Given the description of an element on the screen output the (x, y) to click on. 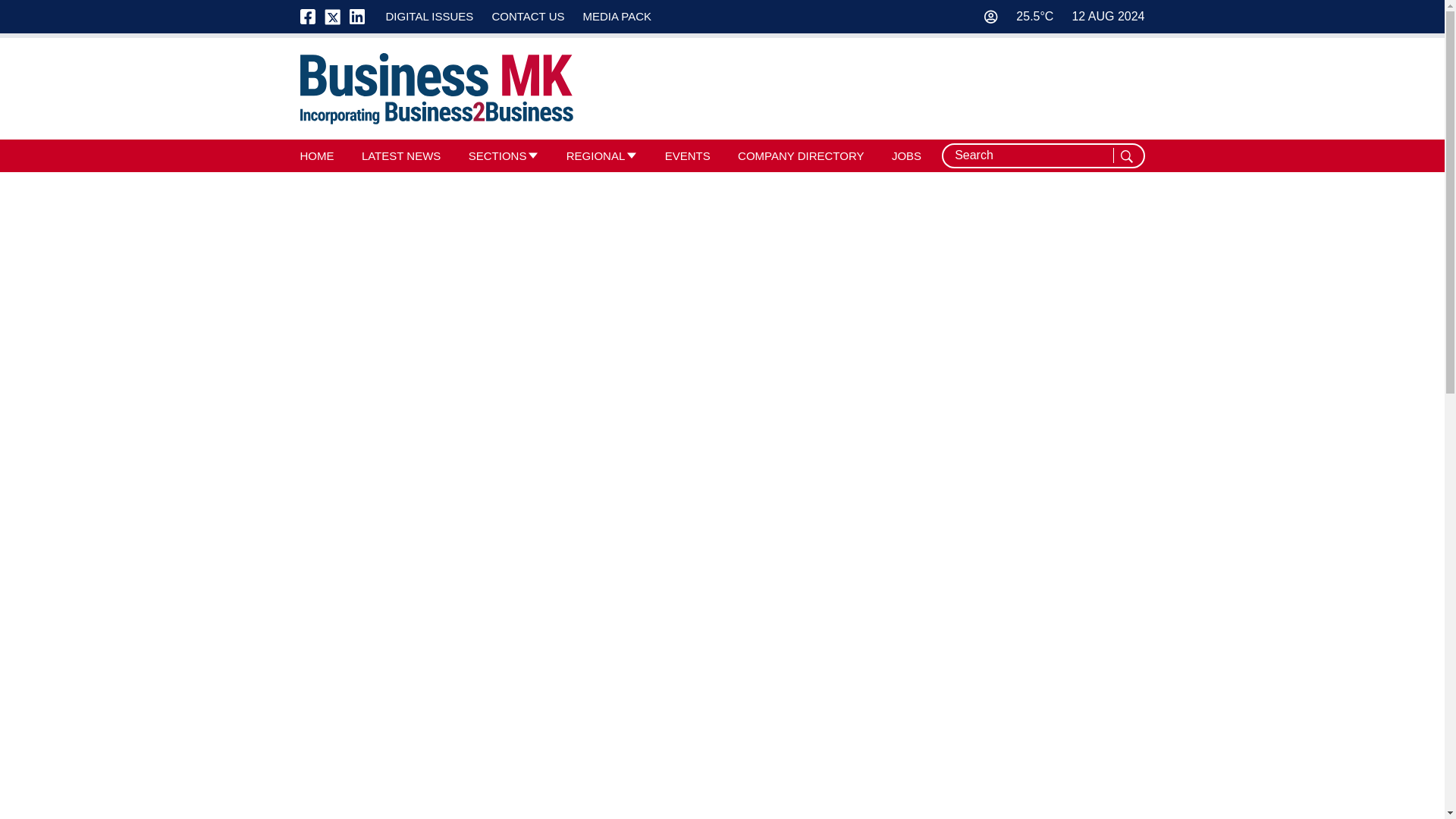
Search (1128, 155)
SECTIONS (497, 155)
Home (436, 88)
Search (1128, 155)
DIGITAL ISSUES (429, 15)
Business MK on Facebook (311, 16)
CONTACT US (528, 15)
Business MK on Twitter (332, 17)
Business mk on LinkedIn (356, 16)
REGIONAL (596, 155)
